Given the description of an element on the screen output the (x, y) to click on. 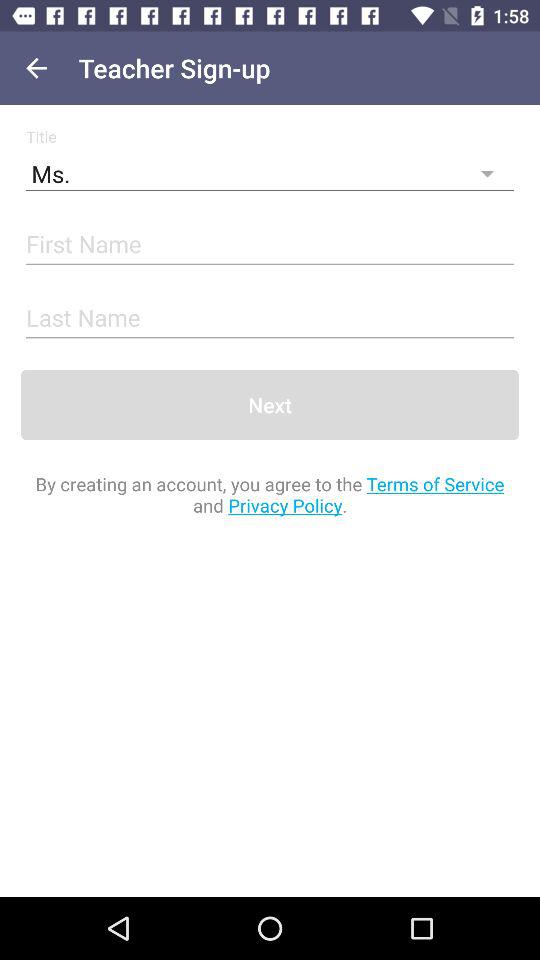
name column (270, 318)
